Given the description of an element on the screen output the (x, y) to click on. 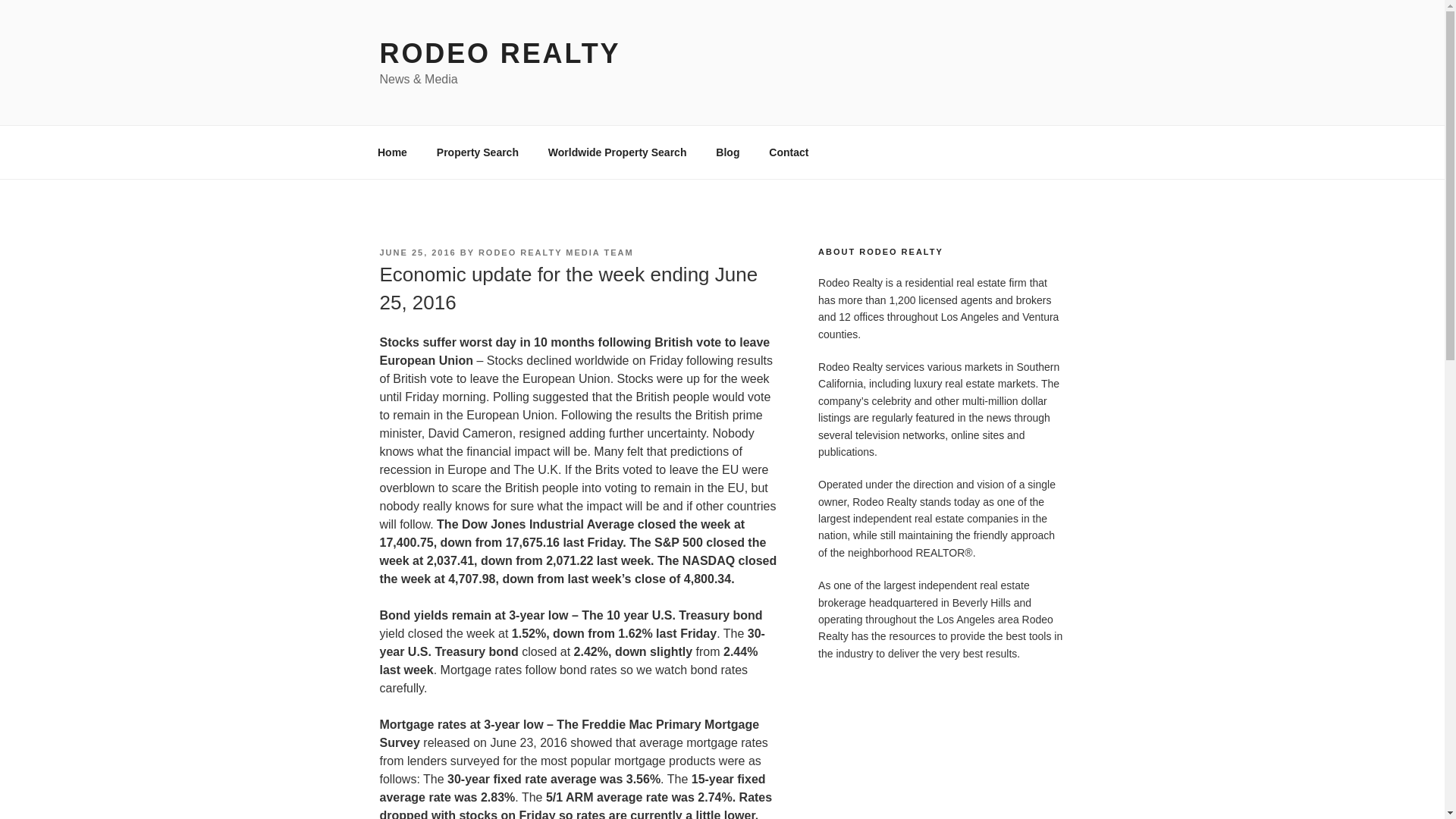
Property Search (477, 151)
Blog (727, 151)
RODEO REALTY (499, 52)
JUNE 25, 2016 (416, 252)
Worldwide Property Search (617, 151)
Home (392, 151)
Contact (788, 151)
RODEO REALTY MEDIA TEAM (556, 252)
